Given the description of an element on the screen output the (x, y) to click on. 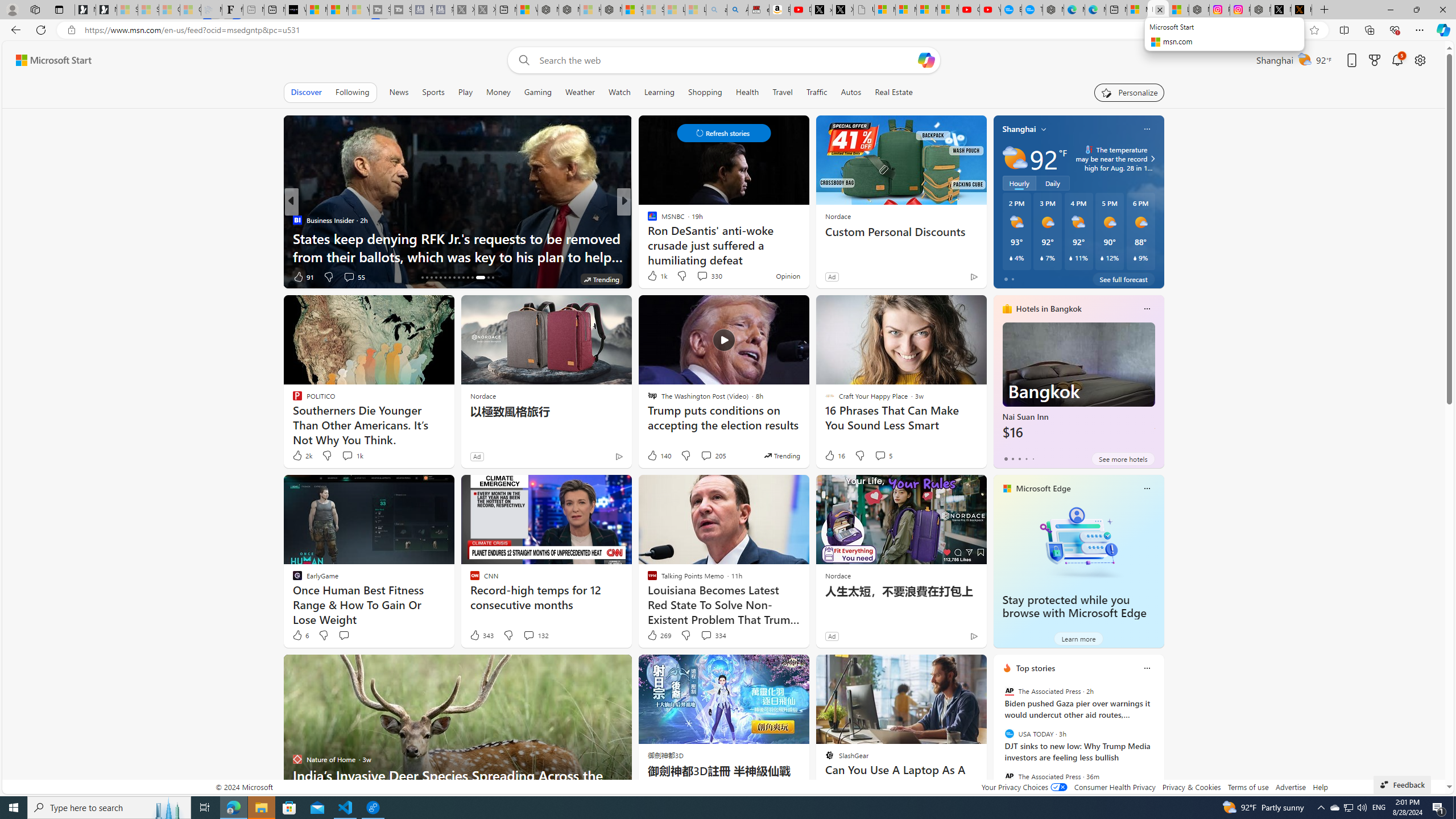
Travel (782, 92)
8 Like (651, 276)
Hotels in Bangkok (1048, 308)
Nai Suan Inn (1077, 385)
My location (1043, 128)
View comments 213 Comment (6, 276)
hotels-header-icon (1006, 308)
This story is trending (781, 455)
Custom Personal Discounts (900, 232)
Sports (432, 92)
LGBTQ Nation (647, 219)
